Given the description of an element on the screen output the (x, y) to click on. 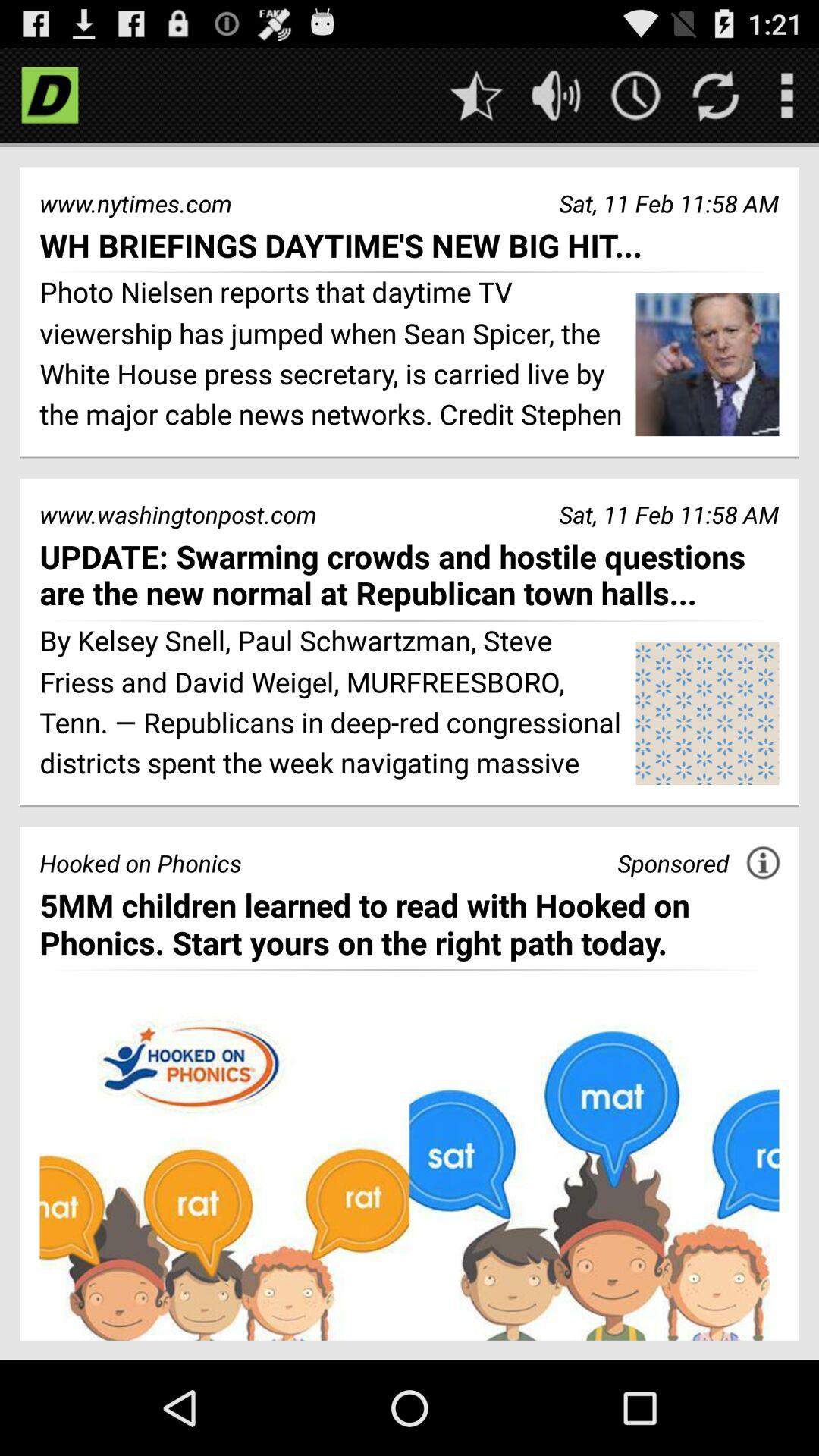
tap the sponsored icon (673, 862)
